Given the description of an element on the screen output the (x, y) to click on. 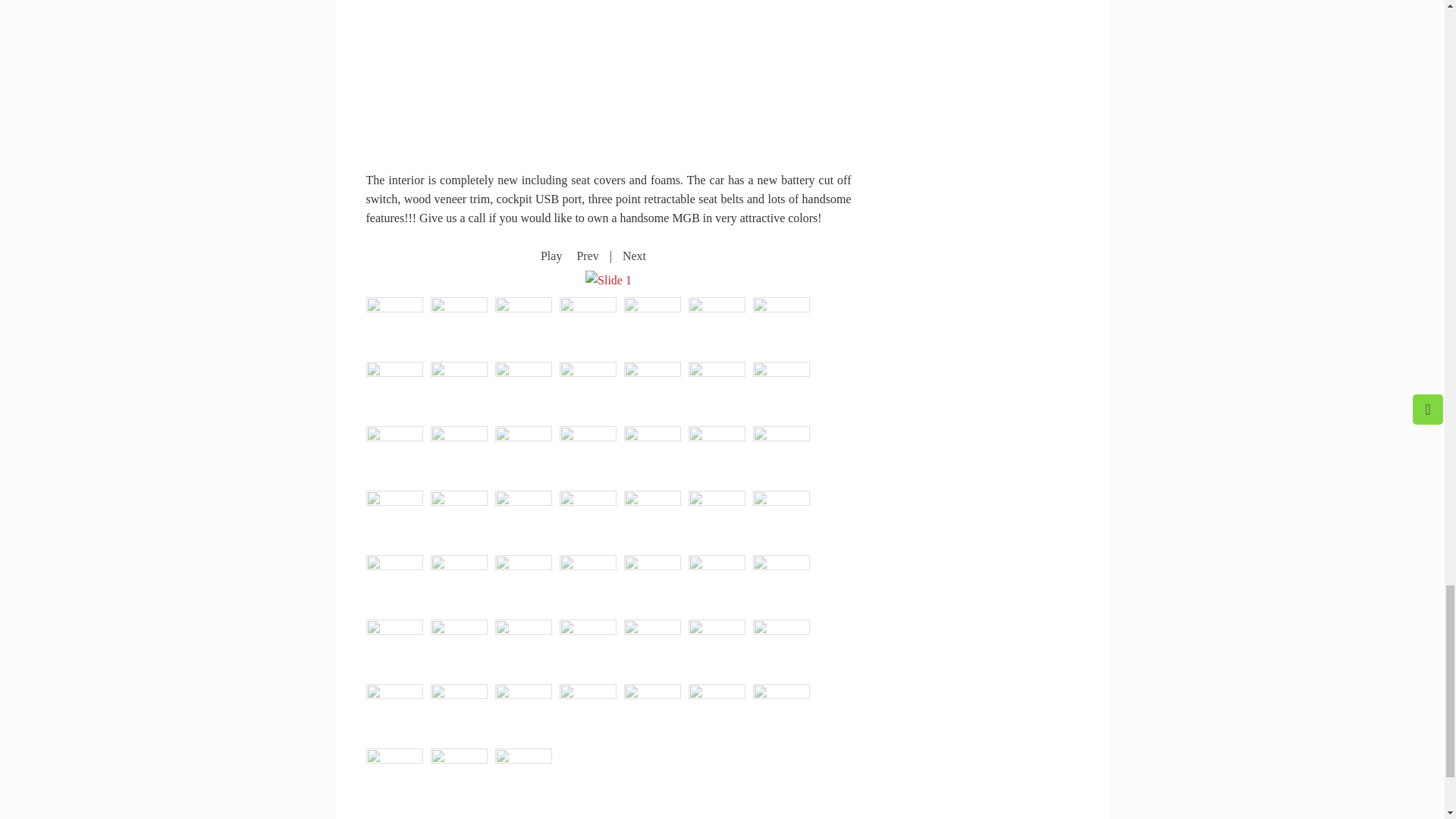
Play (551, 255)
Prev (587, 255)
Next (634, 255)
